Given the description of an element on the screen output the (x, y) to click on. 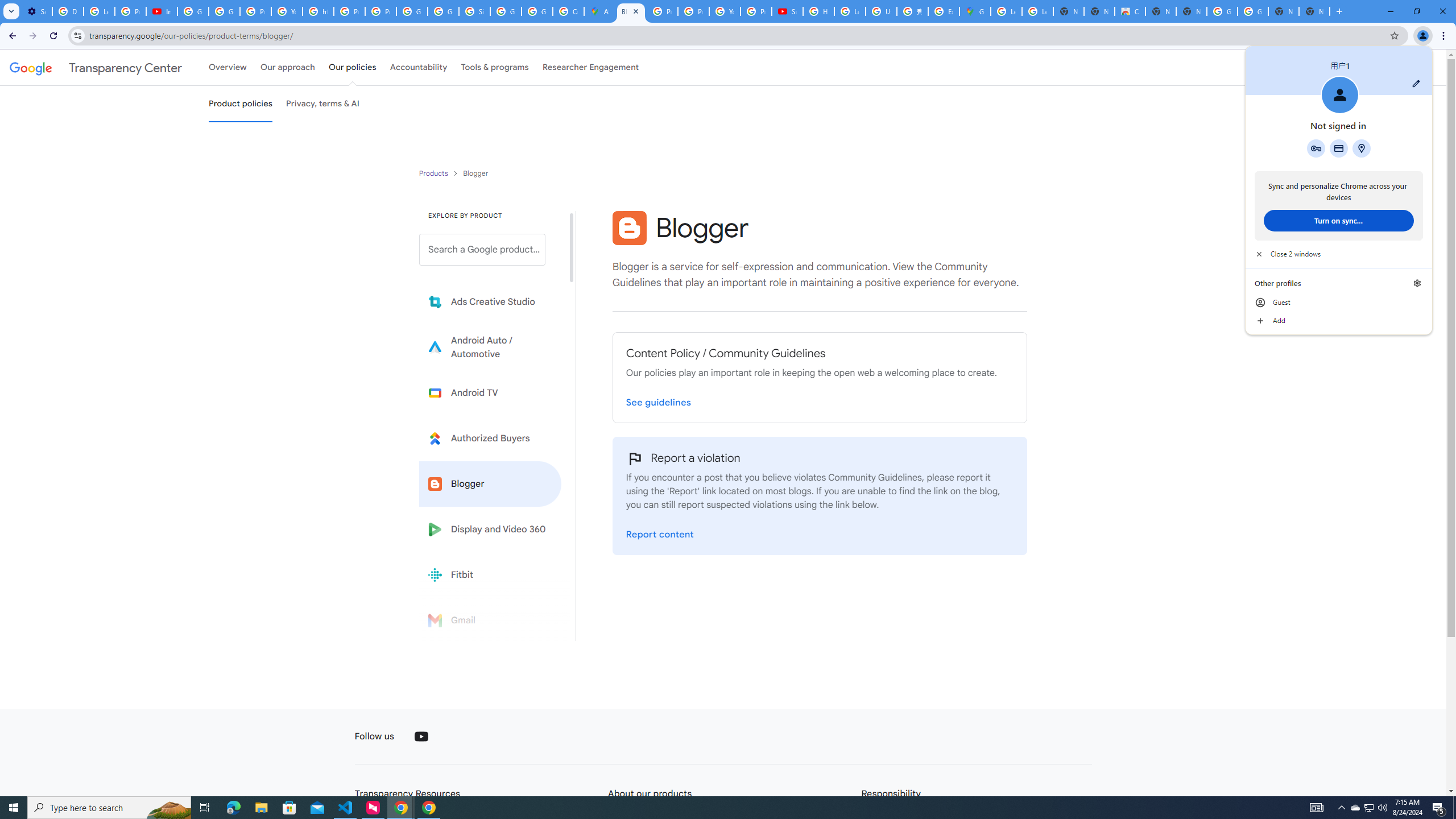
Google Images (1252, 11)
YouTube (286, 11)
Customize profile (1415, 83)
Transparency Center (95, 67)
How Chrome protects your passwords - Google Chrome Help (818, 11)
Action Center, 5 new notifications (1439, 807)
Search highlights icon opens search home window (167, 807)
Google Password Manager (1315, 148)
Explore new street-level details - Google Maps Help (943, 11)
Delete photos & videos - Computer - Google Photos Help (67, 11)
Blogger (628, 227)
Guest (1338, 302)
Google Account Help (192, 11)
Q2790: 100% (1382, 807)
